Given the description of an element on the screen output the (x, y) to click on. 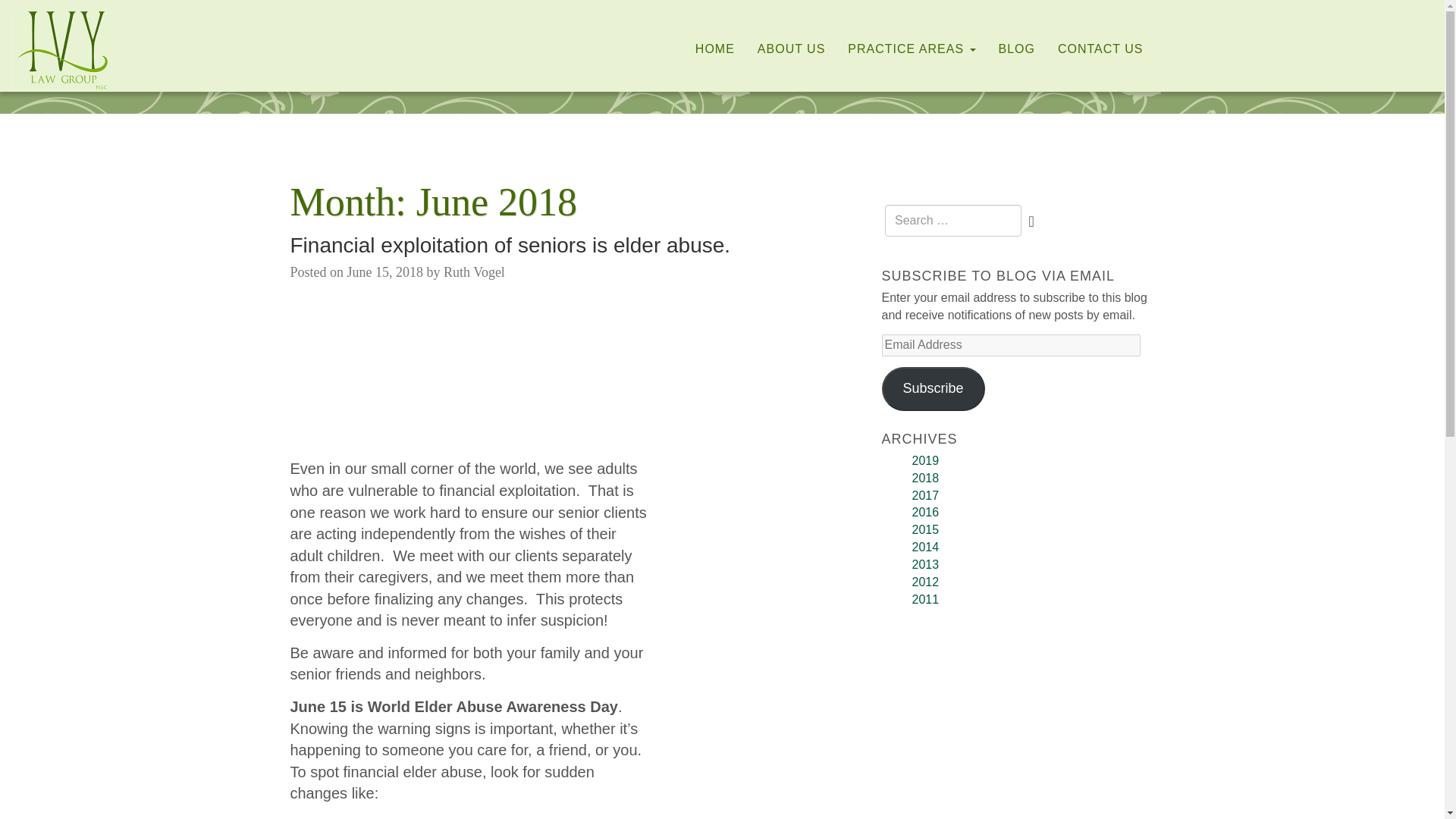
2019 (925, 460)
Subscribe (932, 388)
Home (714, 49)
Practice Areas (911, 49)
June 15, 2018 (385, 272)
2018 (925, 477)
2016 (925, 512)
PRACTICE AREAS (911, 49)
Search for: (953, 220)
Ruth Vogel (474, 272)
ABOUT US (791, 49)
CONTACT US (1100, 49)
Contact Us (1100, 49)
About Us (791, 49)
Financial exploitation of seniors is elder abuse. (509, 245)
